Given the description of an element on the screen output the (x, y) to click on. 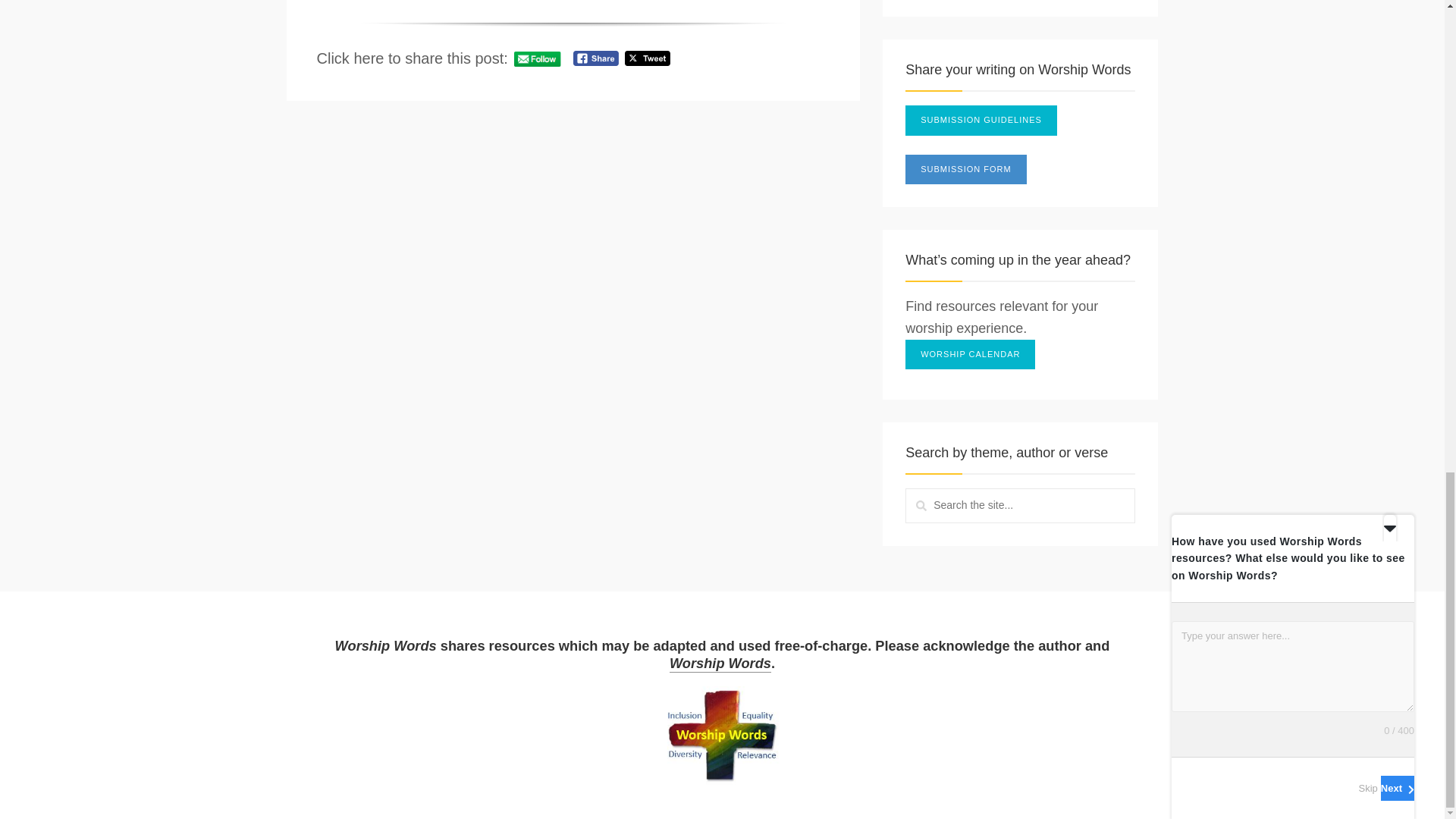
Tweet (646, 58)
submission guidelines (981, 120)
Submission form (965, 169)
Worship Calendar (970, 354)
Facebook Share (595, 58)
